Given the description of an element on the screen output the (x, y) to click on. 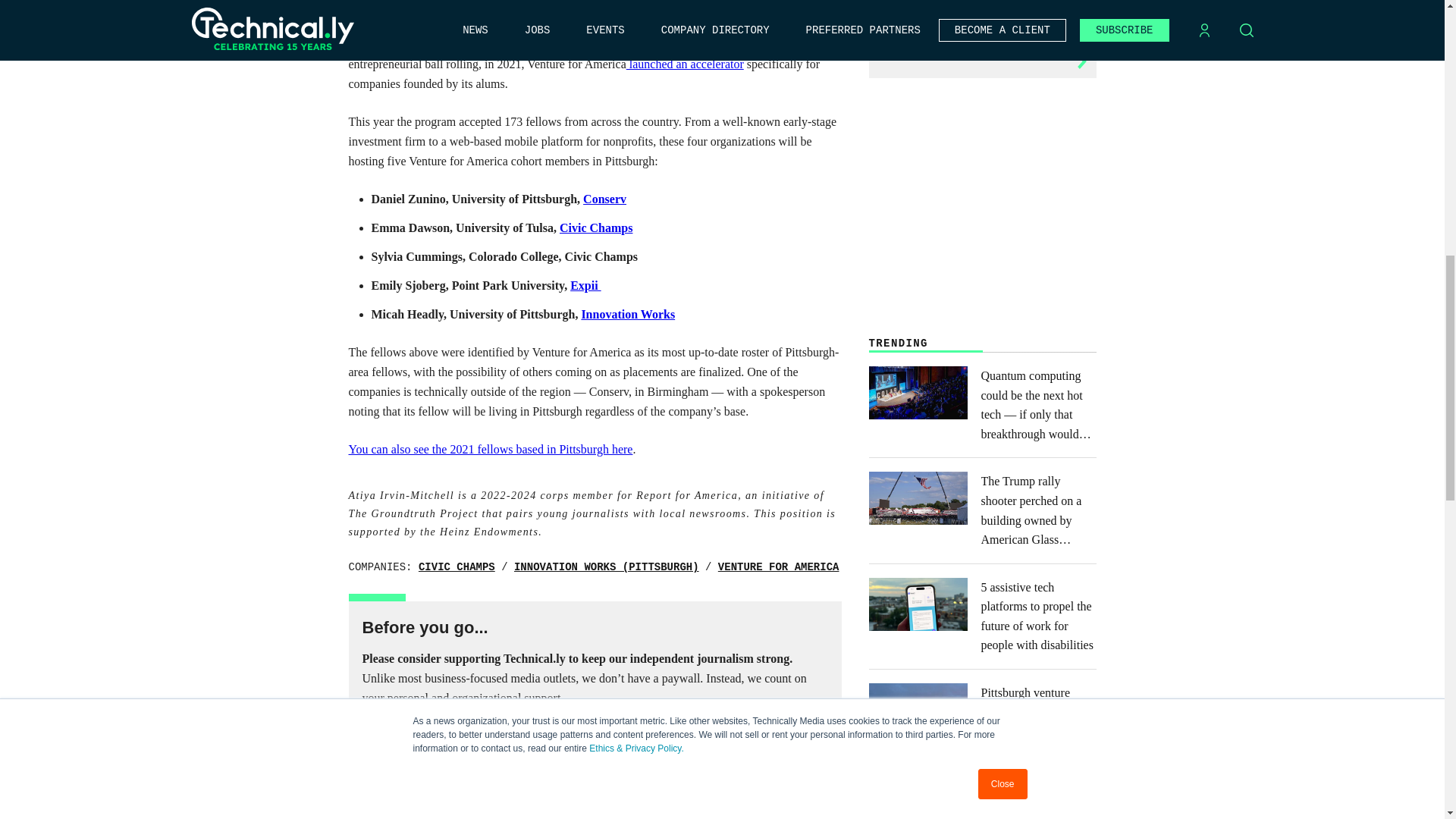
VENTURE FOR AMERICA (778, 567)
Share to Twitter (909, 818)
Civic Champs (595, 227)
Civic Champs (457, 567)
Venture for America (778, 567)
You can also see the 2021 fellows based in Pittsburgh here (491, 449)
Innovation Works (627, 314)
THE JOURNALISM FUND (754, 749)
launched an accelerator (685, 63)
Share to Facebook (937, 818)
OUR SERVICES (435, 749)
PREFERRED PARTNERS (594, 749)
Share to LinkedIn (880, 818)
